Given the description of an element on the screen output the (x, y) to click on. 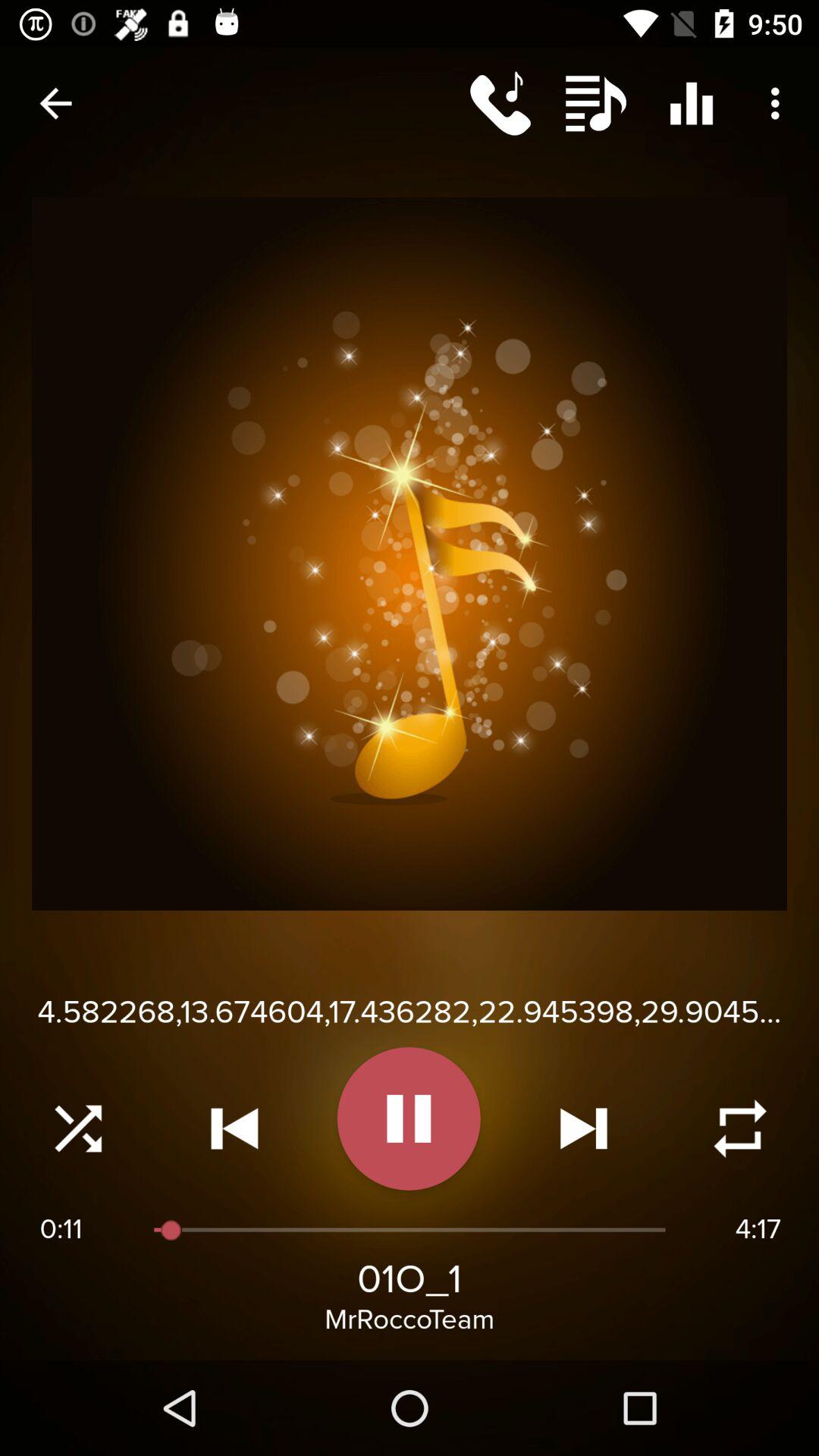
continues replay (740, 1128)
